Given the description of an element on the screen output the (x, y) to click on. 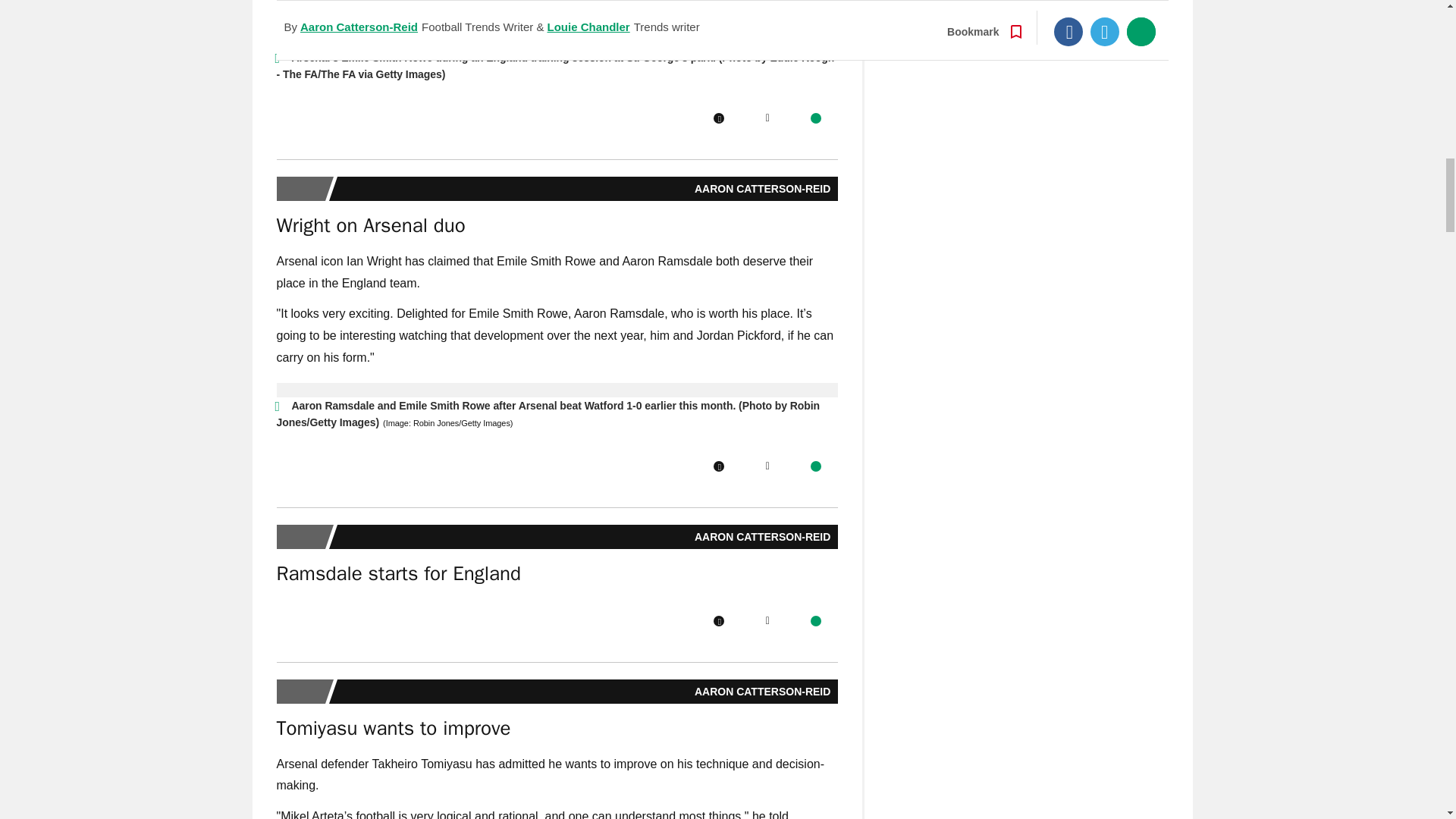
Facebook (718, 466)
Facebook (718, 118)
Facebook (718, 620)
Twitter (767, 466)
Twitter (767, 620)
Twitter (767, 118)
